Given the description of an element on the screen output the (x, y) to click on. 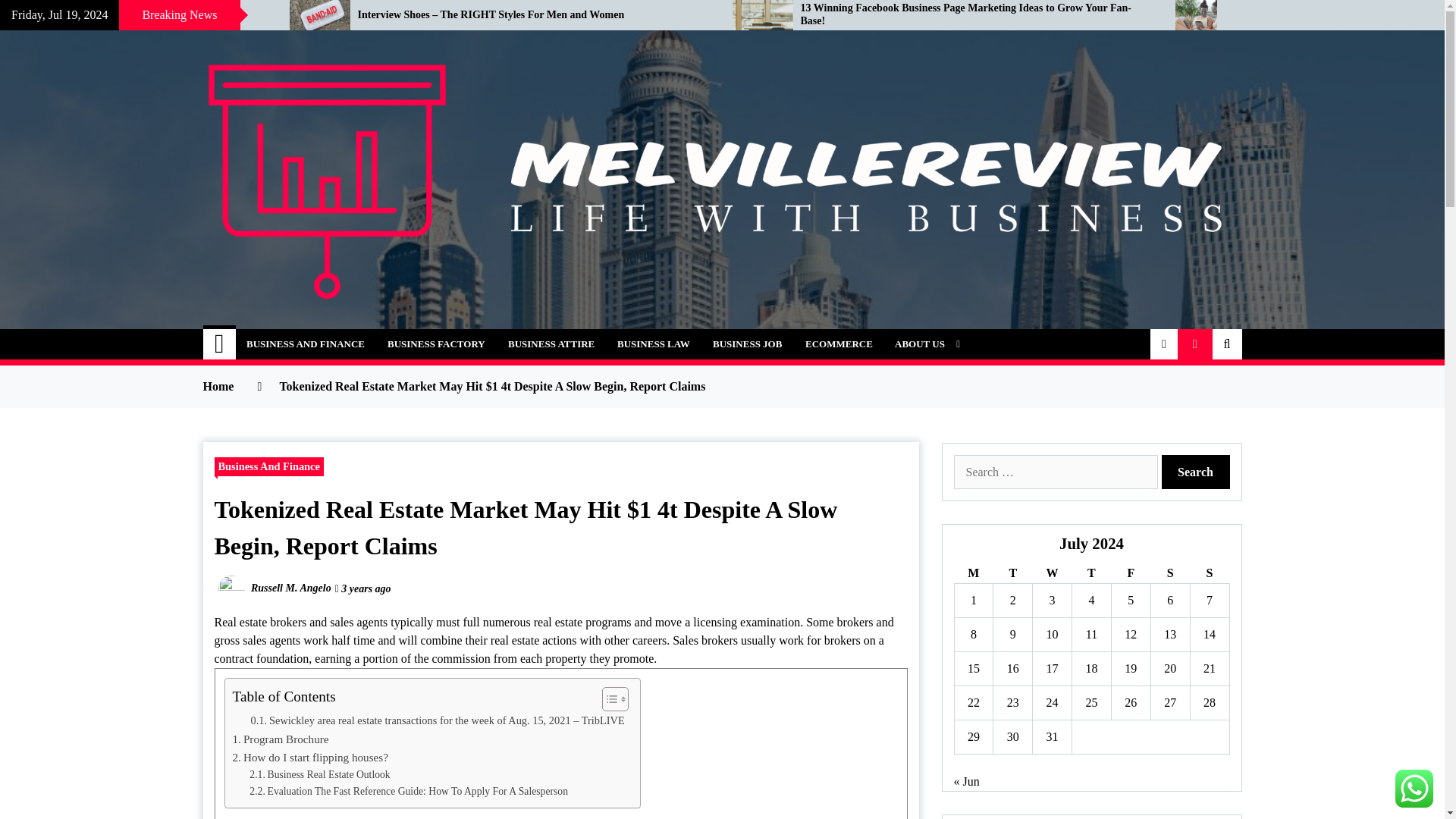
Search (1195, 471)
Program Brochure (280, 739)
Sunday (1208, 573)
Business Real Estate Outlook (319, 774)
Tuesday (1012, 573)
Thursday (1091, 573)
Friday (1130, 573)
Saturday (1169, 573)
Search (1195, 471)
Home (219, 344)
Wednesday (1051, 573)
Monday (972, 573)
How do I start flipping houses? (309, 757)
